Given the description of an element on the screen output the (x, y) to click on. 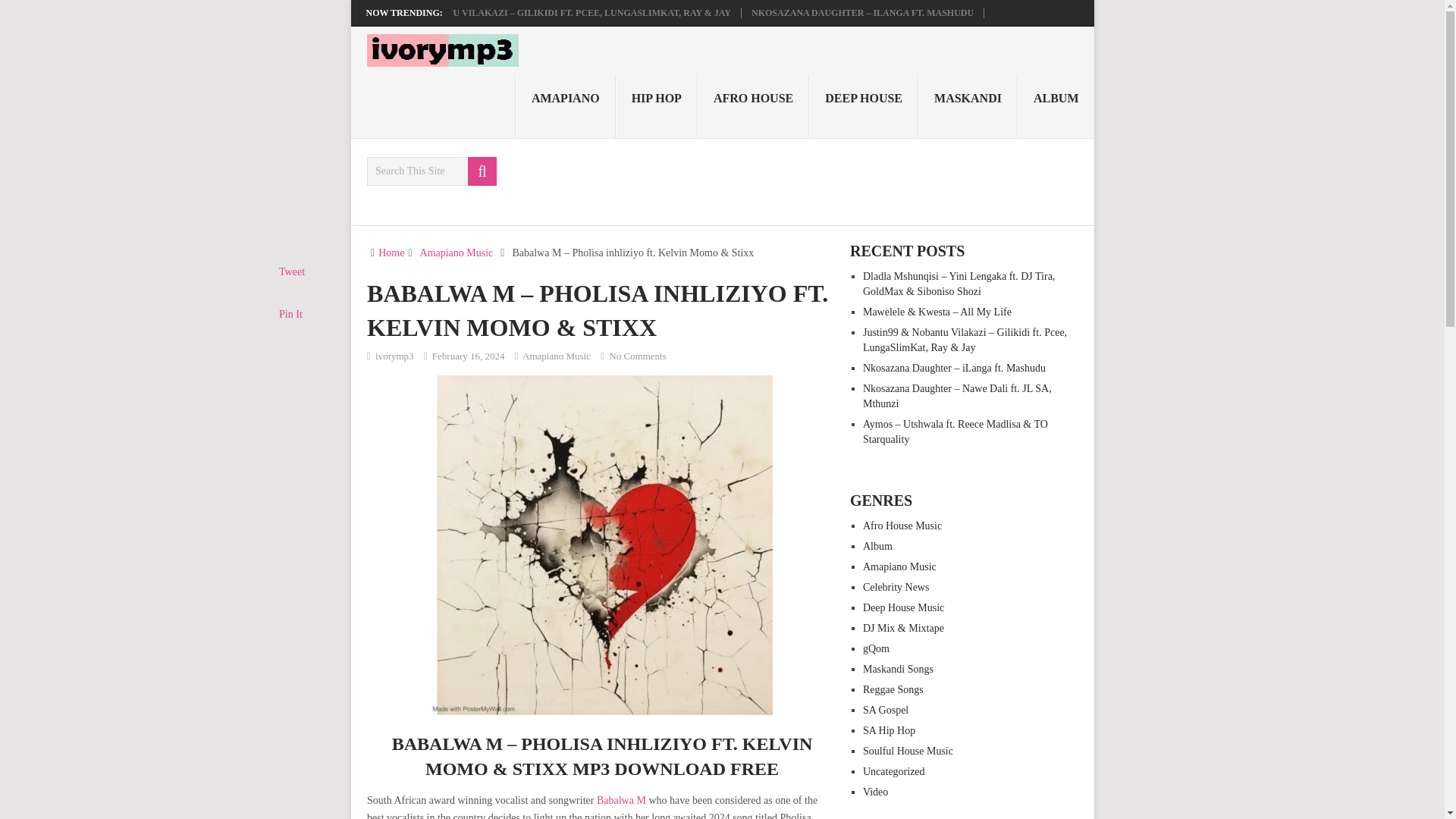
AFRO HOUSE (753, 107)
No Comments (636, 355)
Posts by ivorymp3 (394, 355)
HIP HOP (656, 107)
Amapiano Music (556, 355)
Pin It (290, 314)
AMAPIANO (565, 107)
ivorymp3 (394, 355)
View all posts in Amapiano Music (556, 355)
DEEP HOUSE (863, 107)
